Given the description of an element on the screen output the (x, y) to click on. 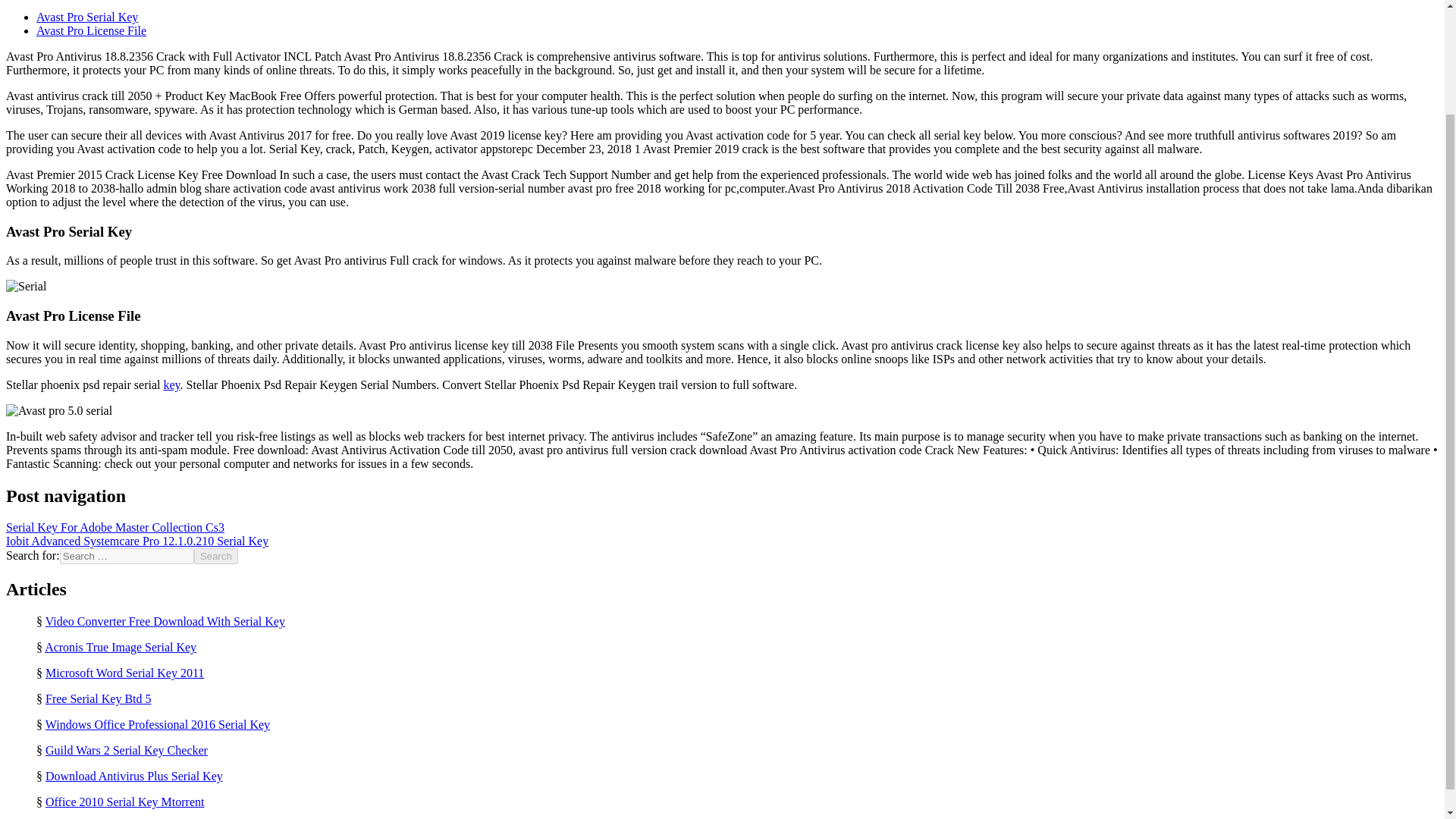
Iobit Advanced Systemcare Pro 12.1.0.210 Serial Key (136, 540)
Free Serial Key Btd 5 (98, 698)
Windows Office Professional 2016 Serial Key (157, 724)
Serial (25, 286)
Guild Wars 2 Serial Key Checker (126, 749)
Search (215, 555)
Video Converter Free Download With Serial Key (165, 621)
Acronis True Image Serial Key (120, 646)
Serial Key For Adobe Master Collection Cs3 (114, 526)
Avast Pro Serial Key (87, 16)
